Given the description of an element on the screen output the (x, y) to click on. 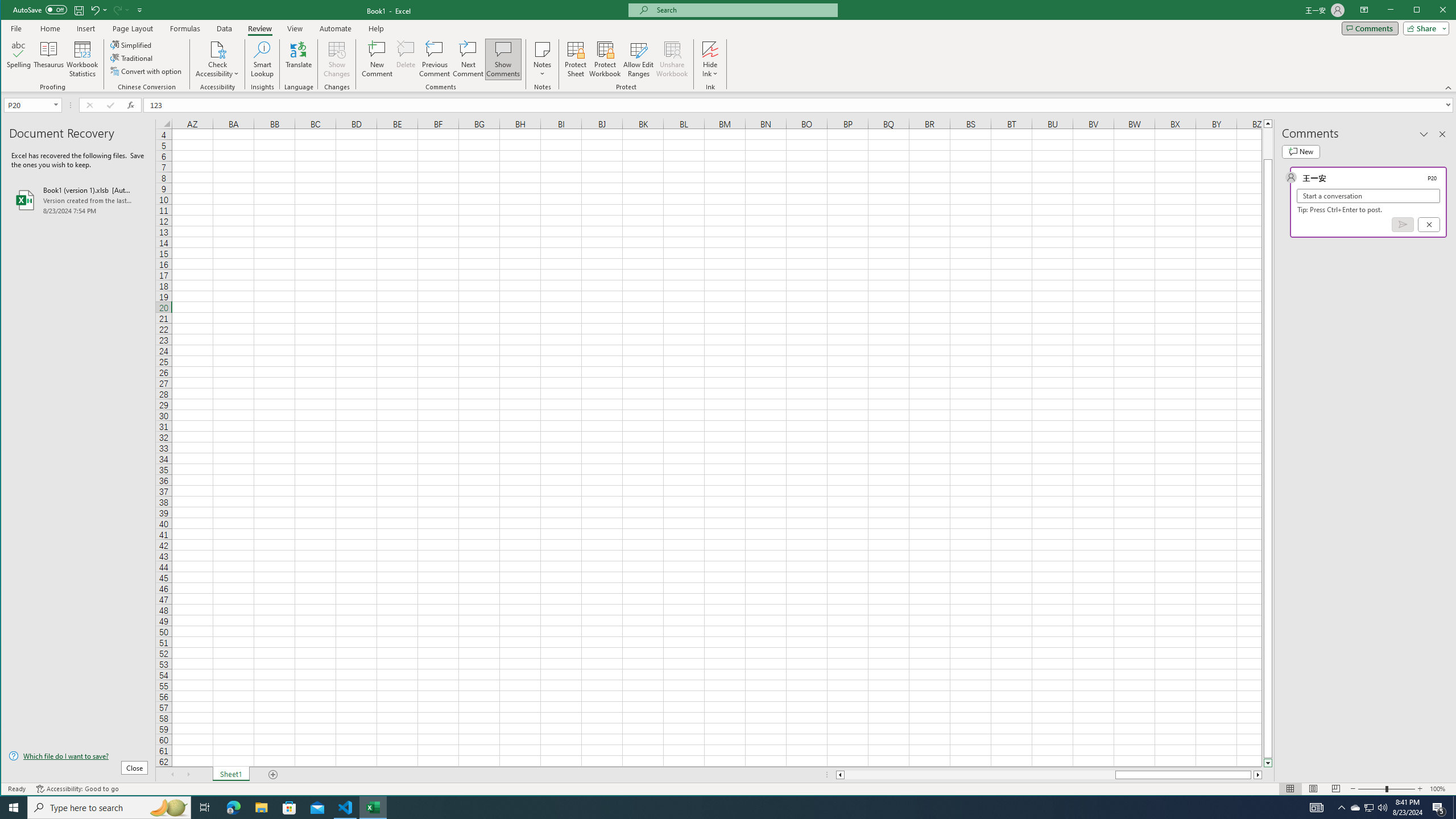
Convert with option (146, 70)
Hide Ink (710, 48)
User Promoted Notification Area (1368, 807)
Q2790: 100% (1382, 807)
Delete (1368, 807)
Visual Studio Code - 1 running window (405, 59)
